Given the description of an element on the screen output the (x, y) to click on. 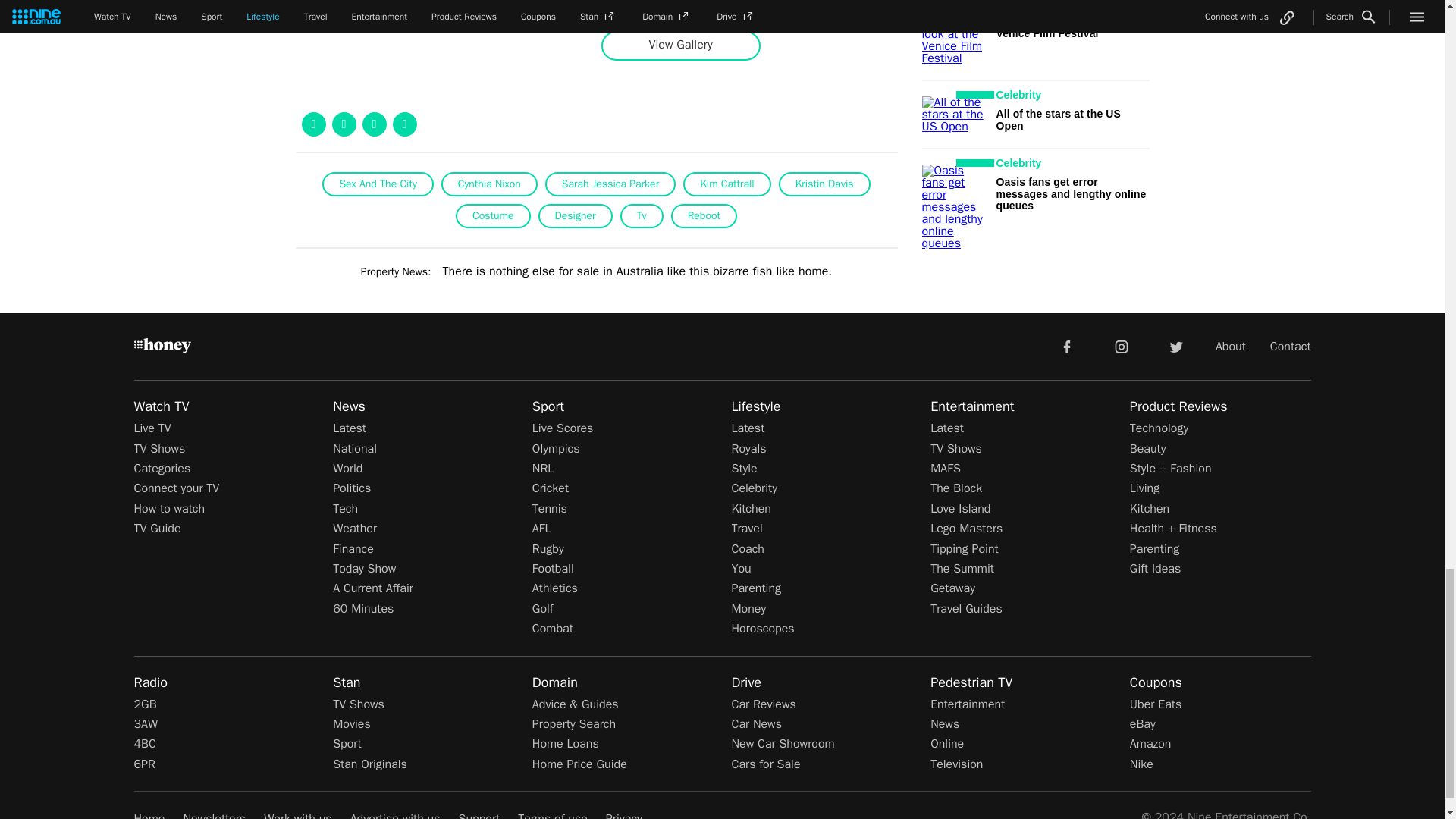
facebook (1066, 345)
instagram (1121, 345)
twitter (1175, 345)
